Given the description of an element on the screen output the (x, y) to click on. 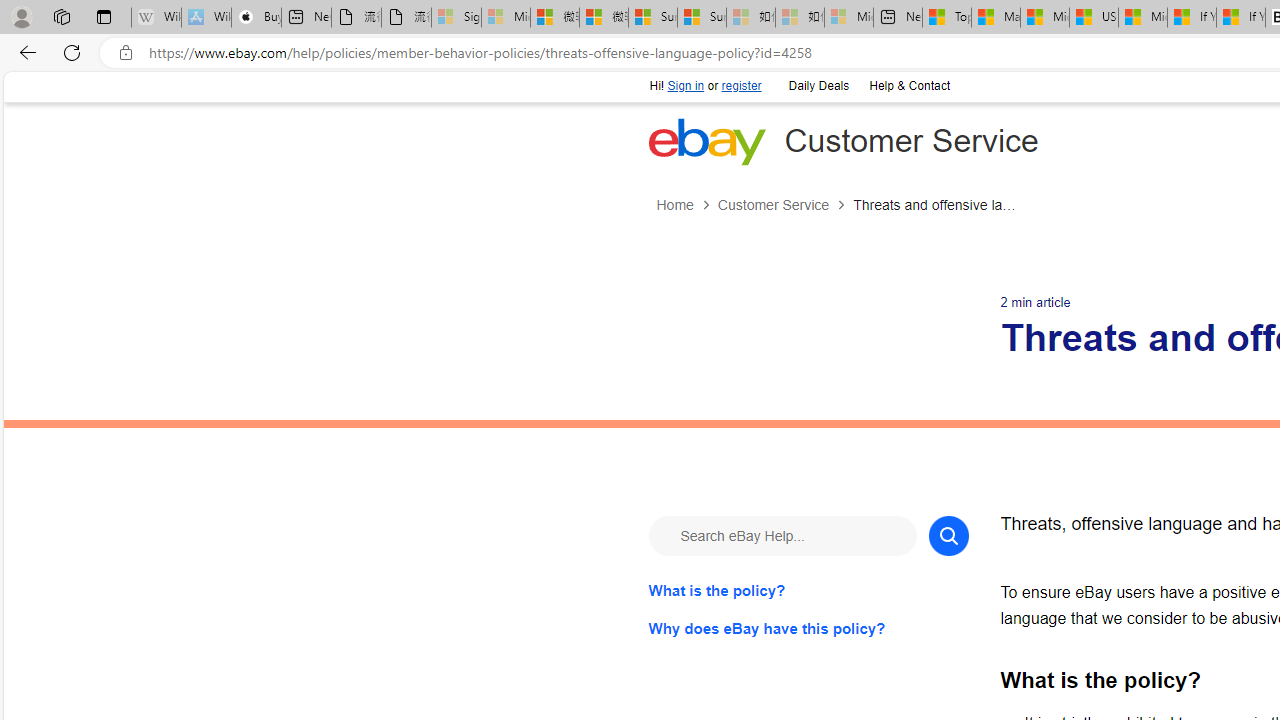
Customer Service (784, 205)
Daily Deals (818, 86)
Threats and offensive language policy (936, 205)
What is the policy? (807, 589)
Customer Service (772, 205)
eBay Home (706, 141)
Help & Contact (909, 86)
